Given the description of an element on the screen output the (x, y) to click on. 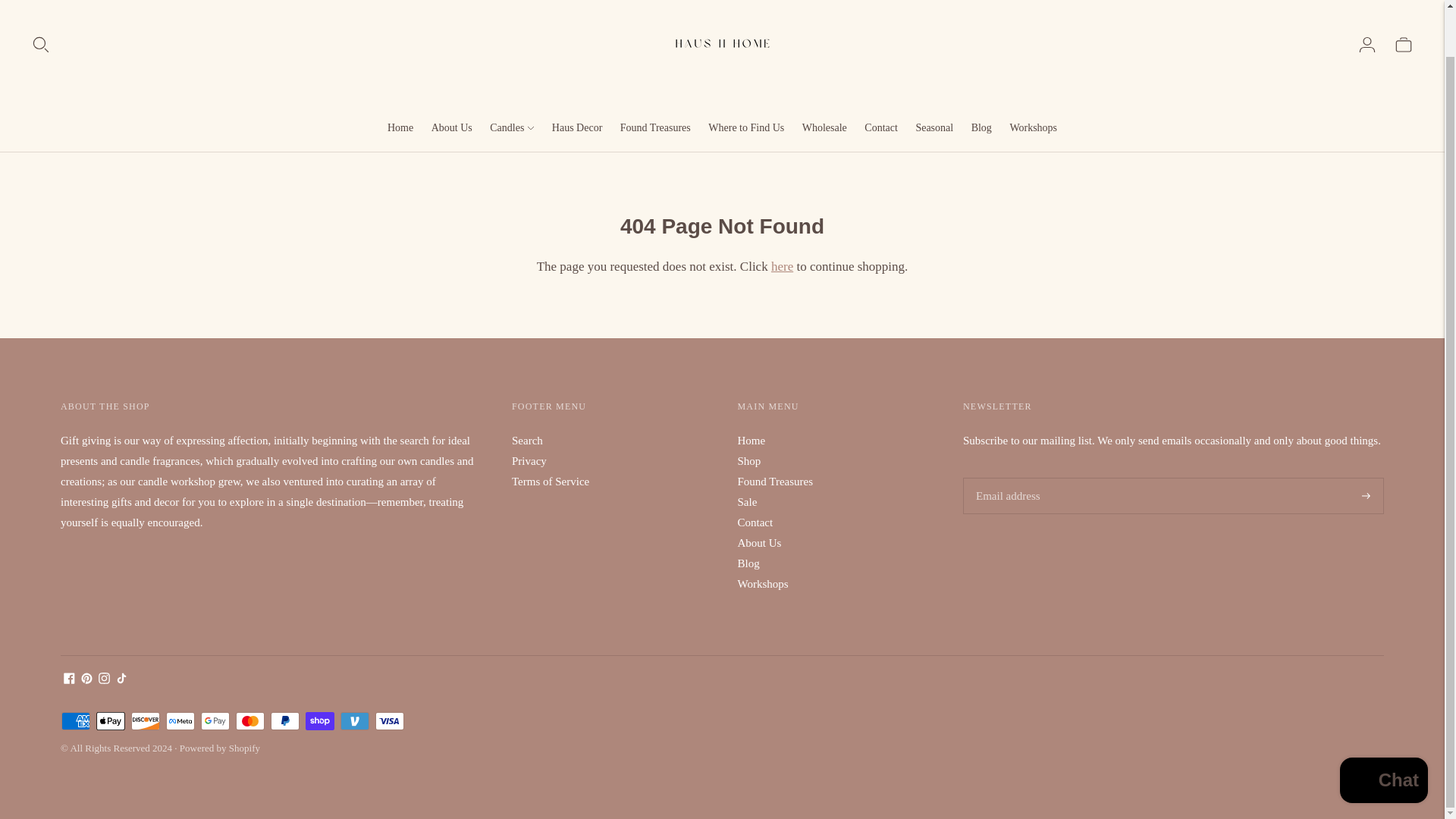
haus2hometx on Facebook (69, 680)
Shopify online store chat (1383, 731)
haus2hometx on Instagram (104, 680)
haus2hometx on Pinterest (87, 680)
haus2hometx on TikTok (122, 680)
